Given the description of an element on the screen output the (x, y) to click on. 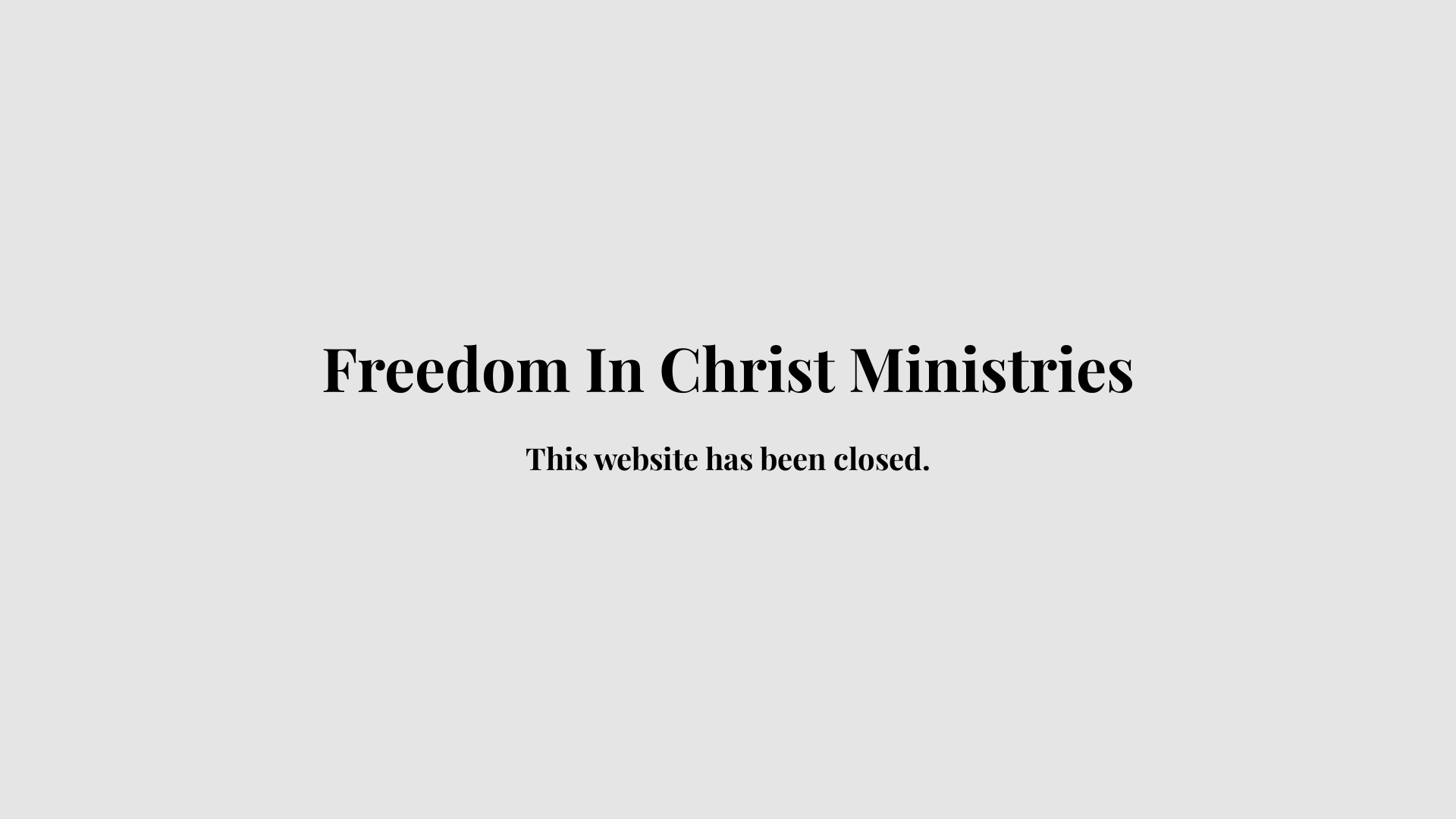
Freedom In Christ Ministries Element type: text (727, 380)
